Given the description of an element on the screen output the (x, y) to click on. 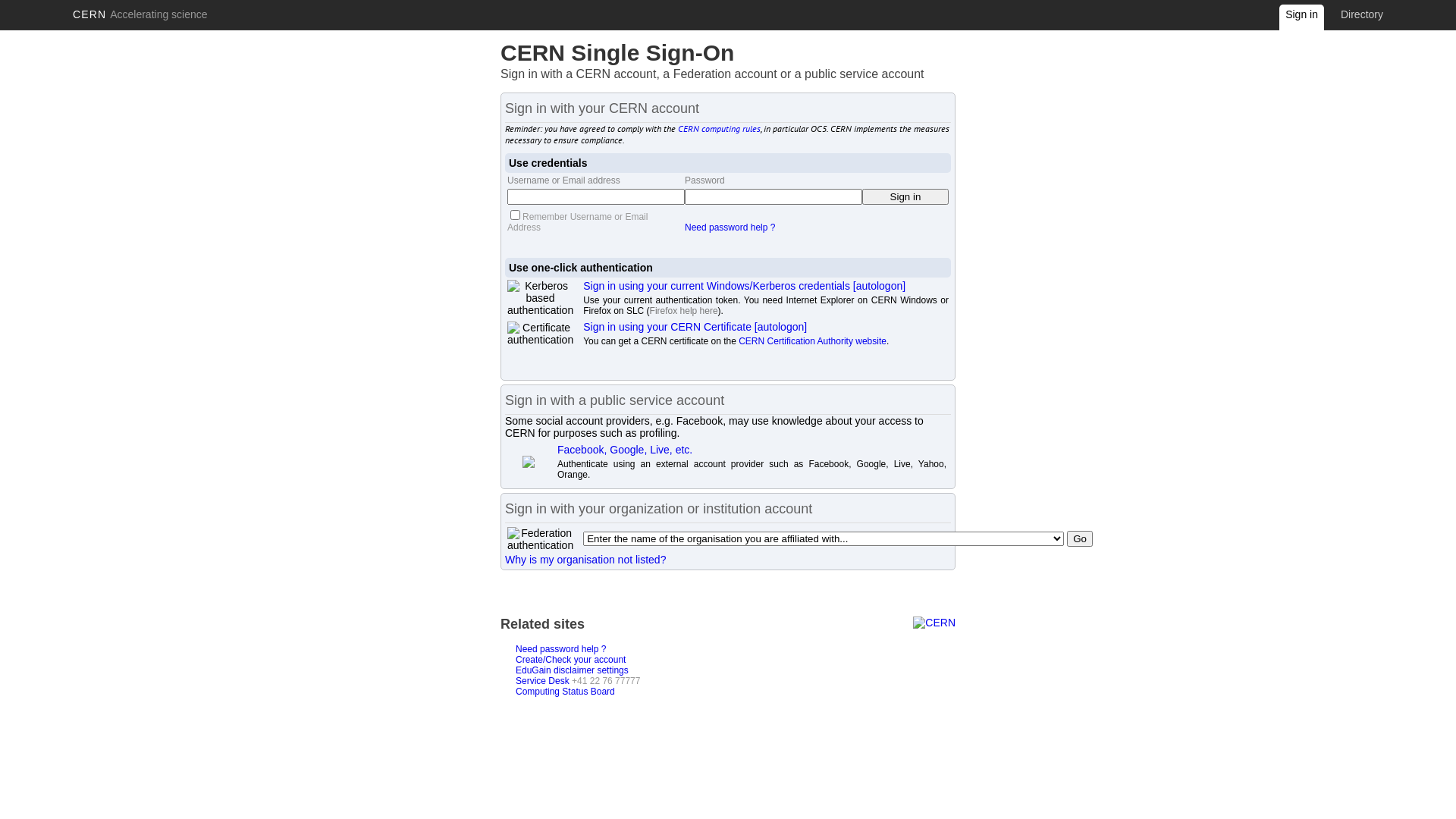
CERN Element type: hover (934, 622)
Firefox help here Element type: text (683, 310)
Computing Status Board Element type: text (565, 691)
[autologon] Element type: text (780, 326)
[autologon] Element type: text (879, 285)
Go Element type: text (1079, 538)
Sign in using your CERN Certificate Element type: text (667, 326)
Need password help ? Element type: text (560, 648)
Facebook, Google, Live, etc. Element type: text (624, 449)
EduGain disclaimer settings Element type: text (571, 670)
Service Desk Element type: text (542, 680)
Directory Element type: text (1361, 14)
Enter your Username or Email Address Element type: hover (595, 196)
CERN Certification Authority website Element type: text (812, 340)
Sign in using your current Windows/Kerberos credentials Element type: text (716, 285)
Sign in Element type: text (905, 196)
[show debug information] Element type: text (549, 575)
CERN computing rules Element type: text (718, 128)
Sign in Element type: text (1301, 19)
CERN Single Sign-On Element type: text (617, 52)
Need password help ? Element type: text (729, 227)
Why is my organisation not listed? Element type: text (585, 559)
CERN Accelerating science Element type: text (139, 14)
Create/Check your account Element type: text (570, 659)
